Given the description of an element on the screen output the (x, y) to click on. 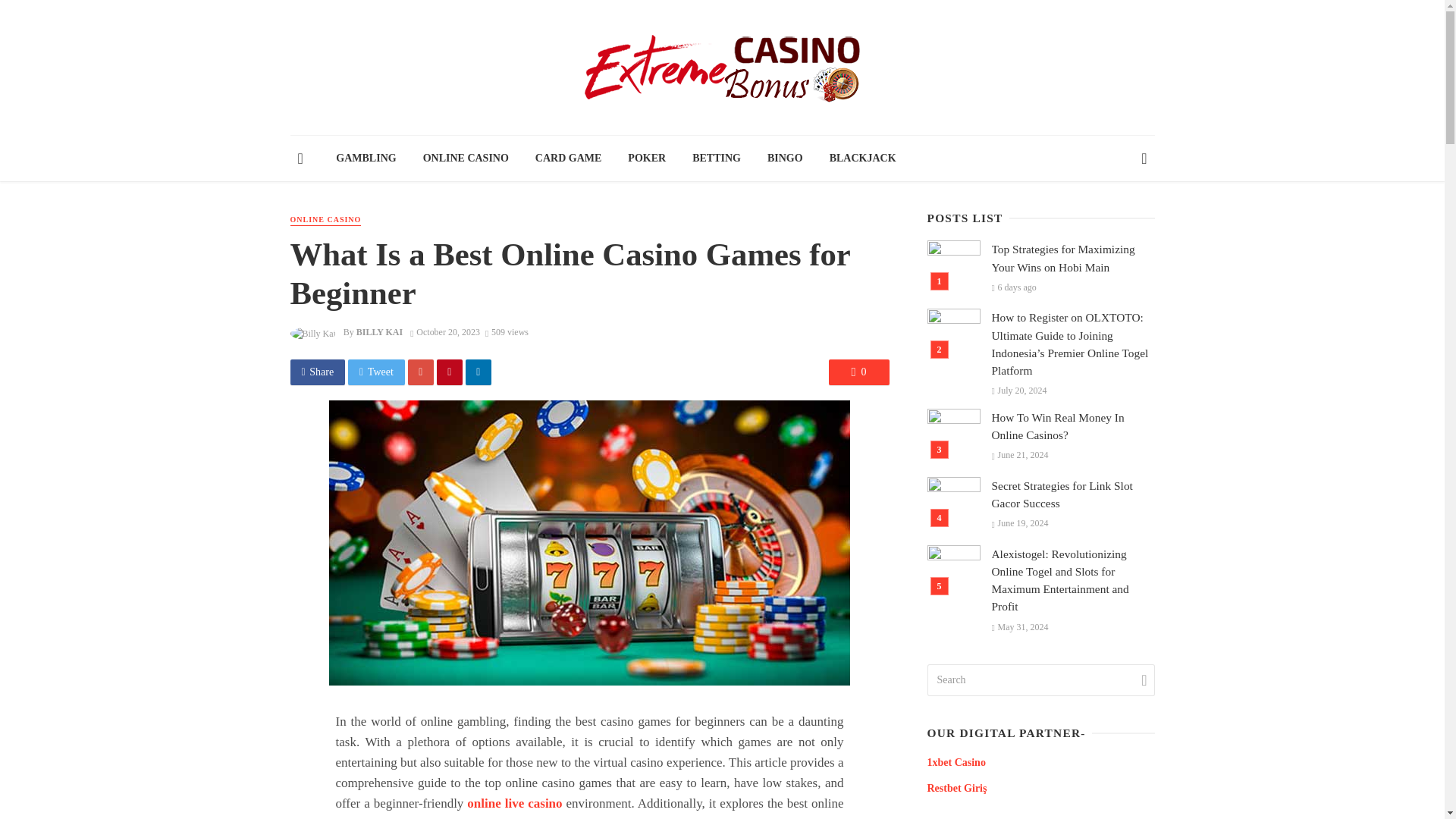
Share on Facebook (317, 371)
CARD GAME (567, 157)
October 20, 2023 at 9:03 am (445, 331)
online live casino (514, 803)
BINGO (784, 157)
BLACKJACK (861, 157)
0 Comments (858, 371)
GAMBLING (366, 157)
Tweet (375, 371)
Share on Linkedin (478, 371)
ONLINE CASINO (325, 220)
BETTING (716, 157)
Posts by Billy Kai (379, 331)
Share on Pinterest (449, 371)
Share (317, 371)
